Given the description of an element on the screen output the (x, y) to click on. 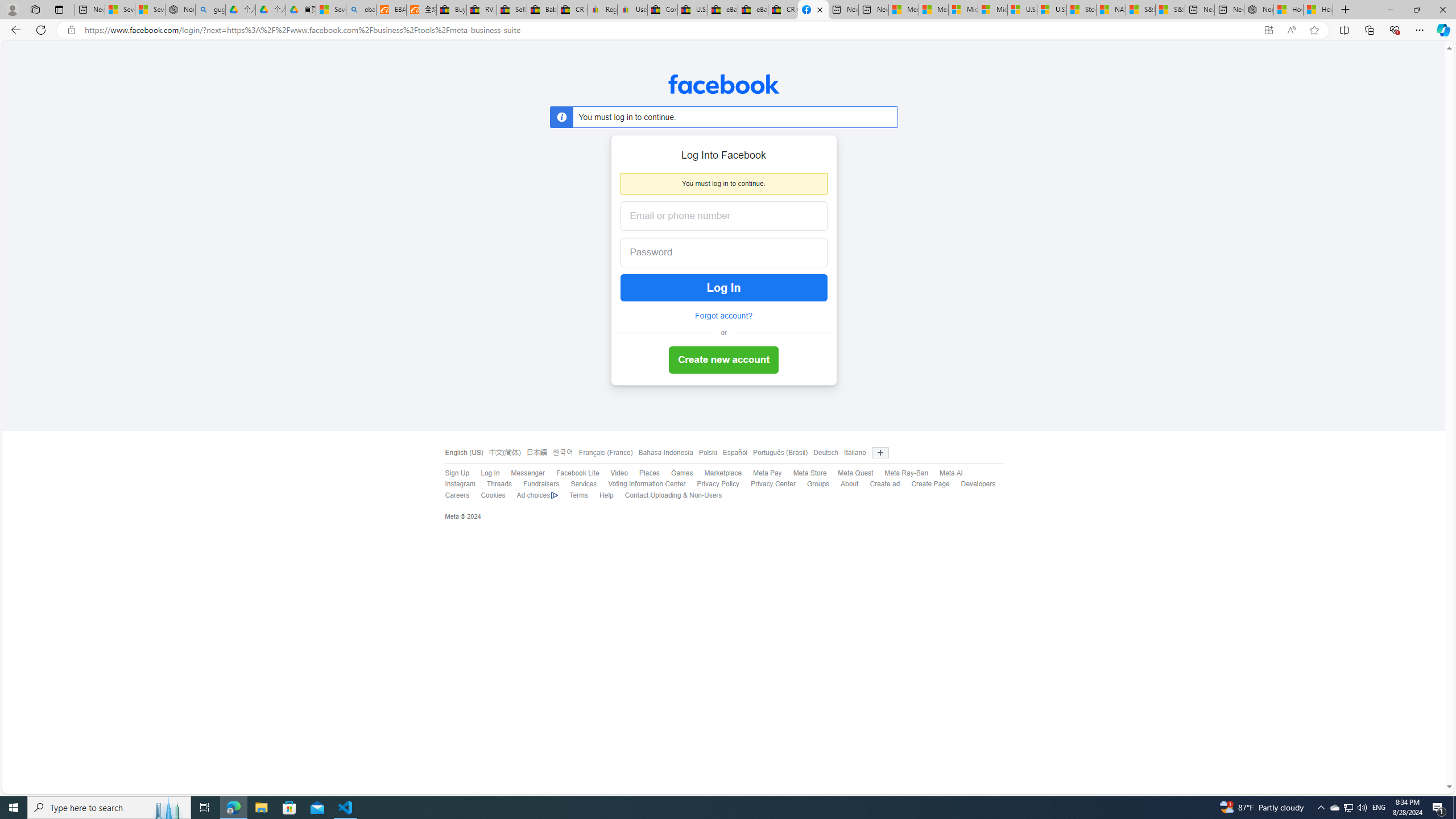
Meta Store (804, 473)
Bahasa Indonesia (665, 452)
ebay - Search (360, 9)
Show more languages (879, 452)
Log In (489, 473)
Sign Up (457, 473)
Ad choices (537, 495)
Facebook (723, 84)
Privacy Policy (712, 484)
Bahasa Indonesia (662, 452)
Terms (578, 494)
